Given the description of an element on the screen output the (x, y) to click on. 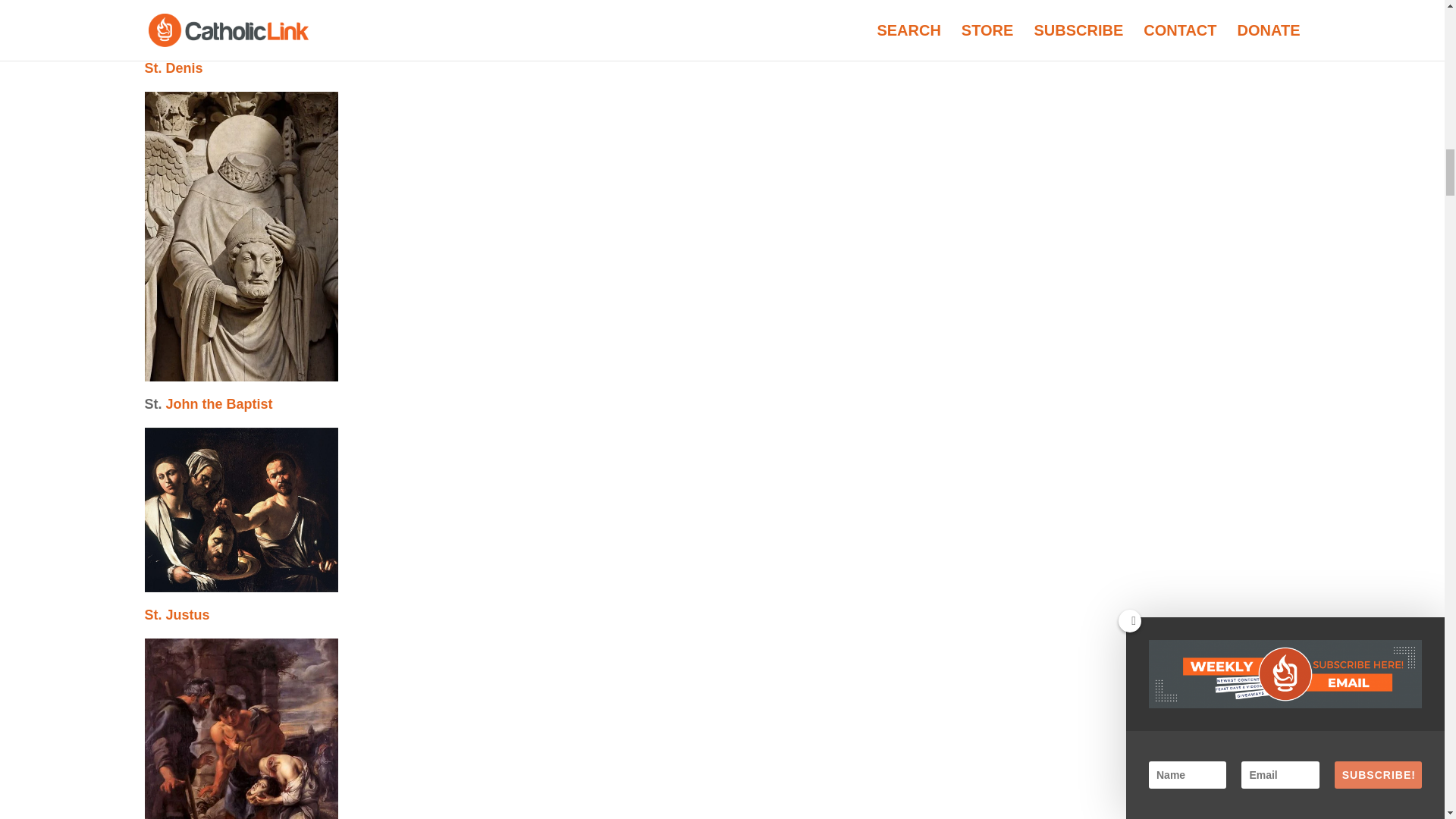
St. Justus (176, 614)
St. Denis (173, 68)
John the Baptist (219, 403)
